Given the description of an element on the screen output the (x, y) to click on. 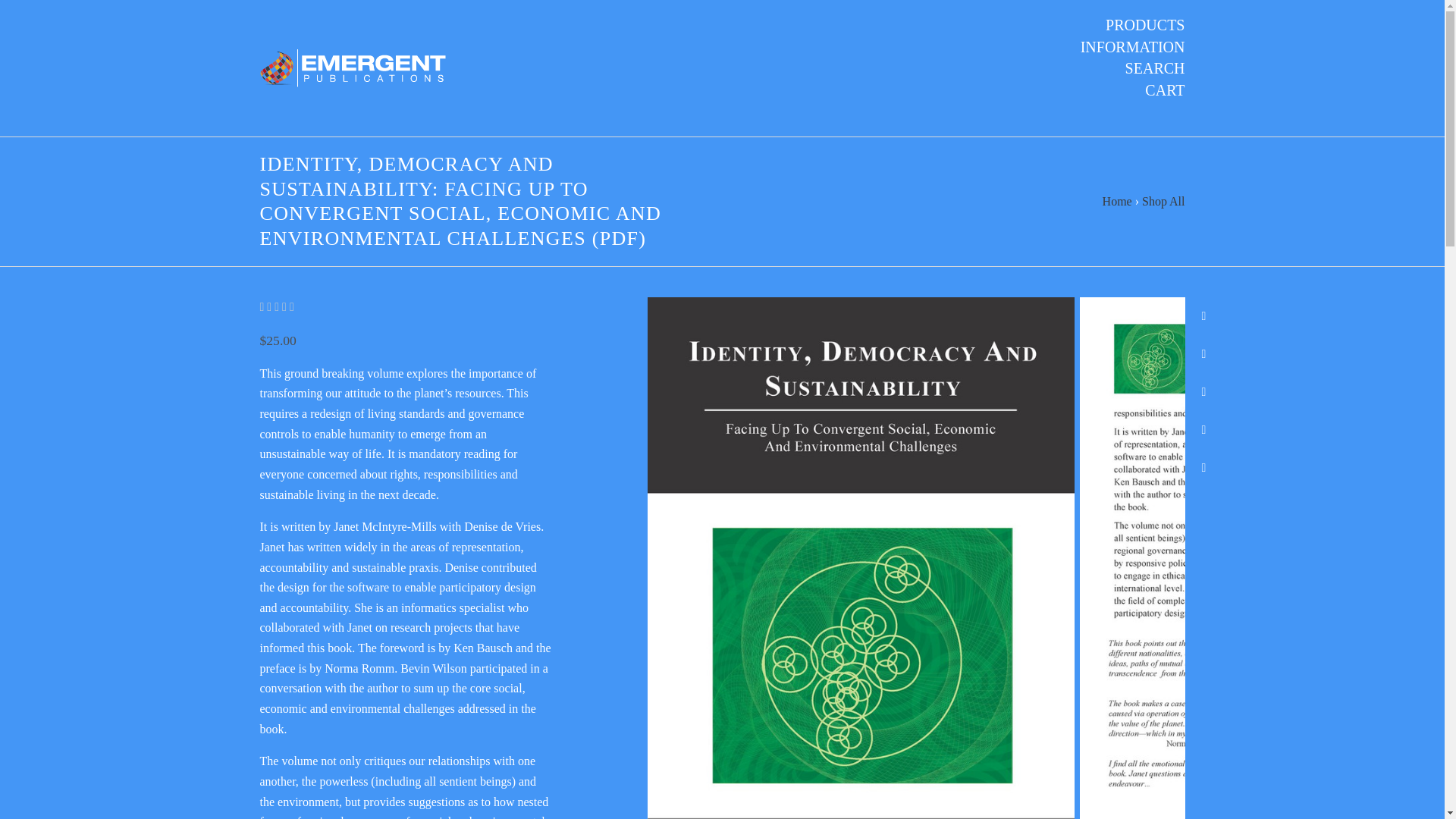
Shop All (1163, 201)
Home (1117, 201)
SEARCH (1155, 67)
CART (1164, 89)
INFORMATION (1132, 46)
PRODUCTS (1145, 25)
